Given the description of an element on the screen output the (x, y) to click on. 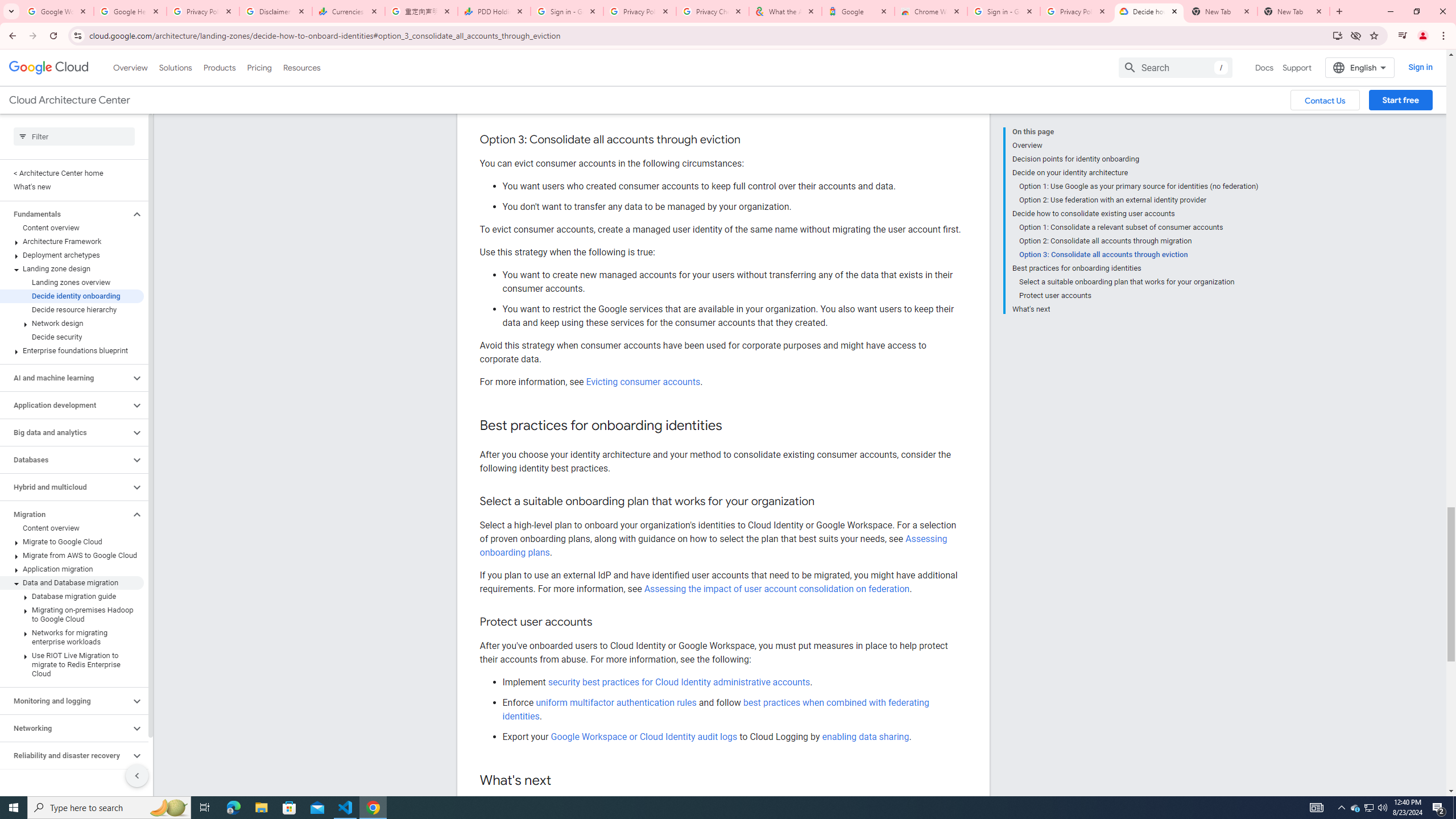
Database migration guide (72, 596)
Databases (64, 459)
Migration (64, 514)
